Given the description of an element on the screen output the (x, y) to click on. 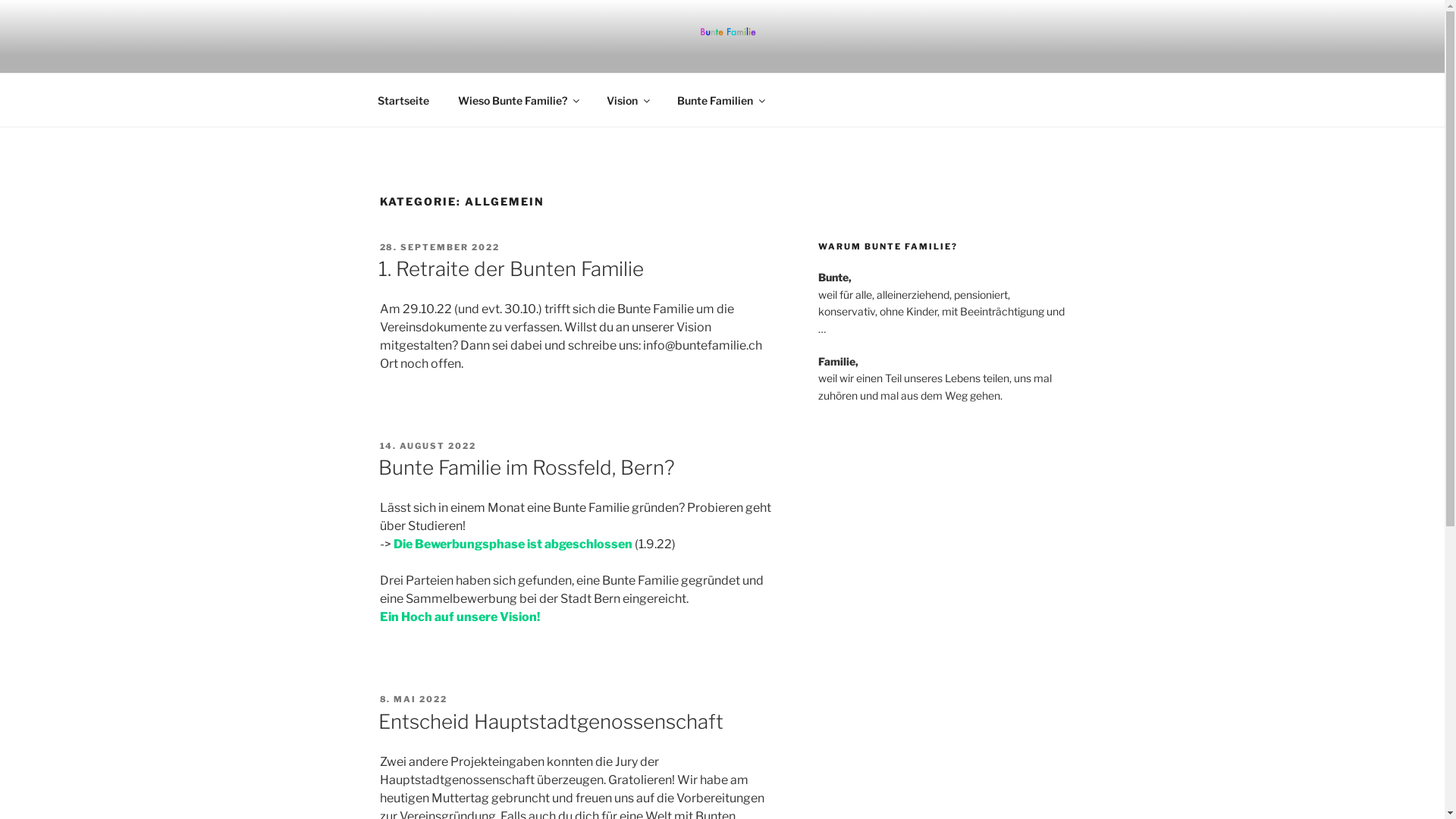
Entscheid Hauptstadtgenossenschaft Element type: text (549, 721)
28. SEPTEMBER 2022 Element type: text (439, 246)
Bunte Familien Element type: text (720, 100)
1. Retraite der Bunten Familie Element type: text (510, 268)
BUNTE FAMILIE Element type: text (502, 52)
8. MAI 2022 Element type: text (413, 698)
Startseite Element type: text (403, 100)
Bunte Familie im Rossfeld, Bern? Element type: text (525, 467)
14. AUGUST 2022 Element type: text (427, 445)
Vision Element type: text (627, 100)
Wieso Bunte Familie? Element type: text (517, 100)
